Given the description of an element on the screen output the (x, y) to click on. 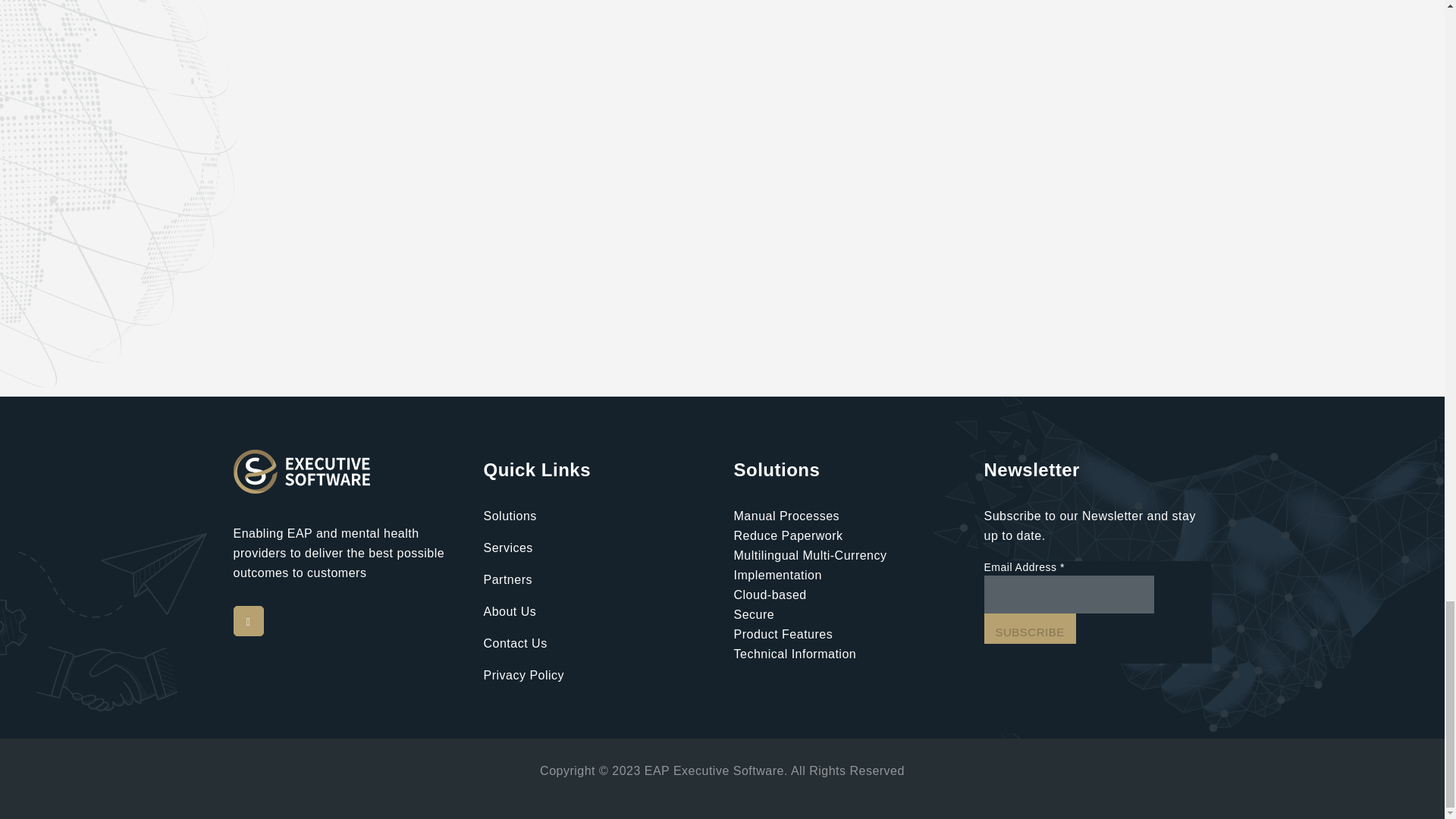
Reduce Paperwork (788, 535)
Multilingual Multi-Currency (809, 554)
Subscribe (1029, 628)
Manual Processes (786, 515)
